Given the description of an element on the screen output the (x, y) to click on. 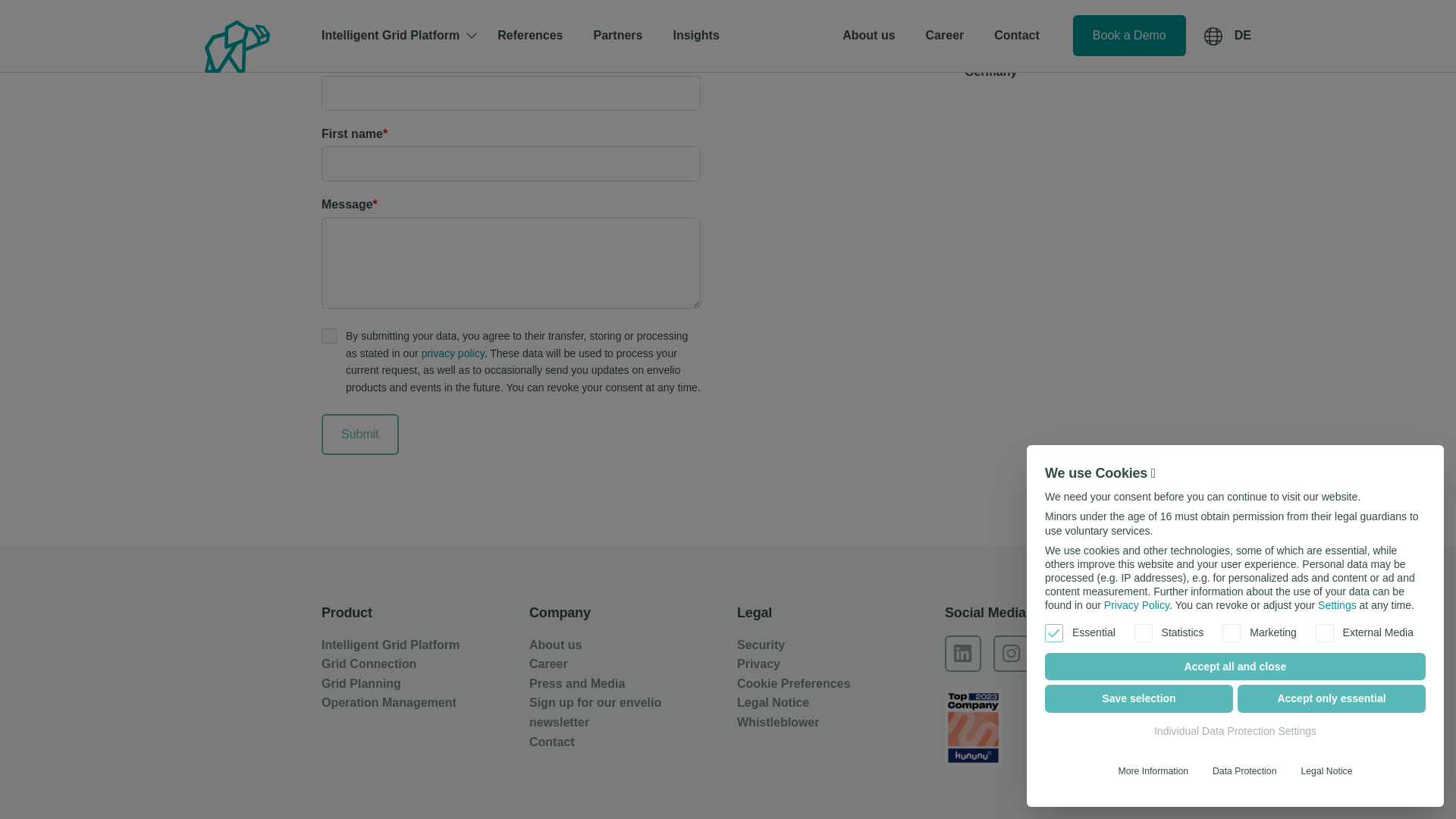
Submit (359, 434)
